Given the description of an element on the screen output the (x, y) to click on. 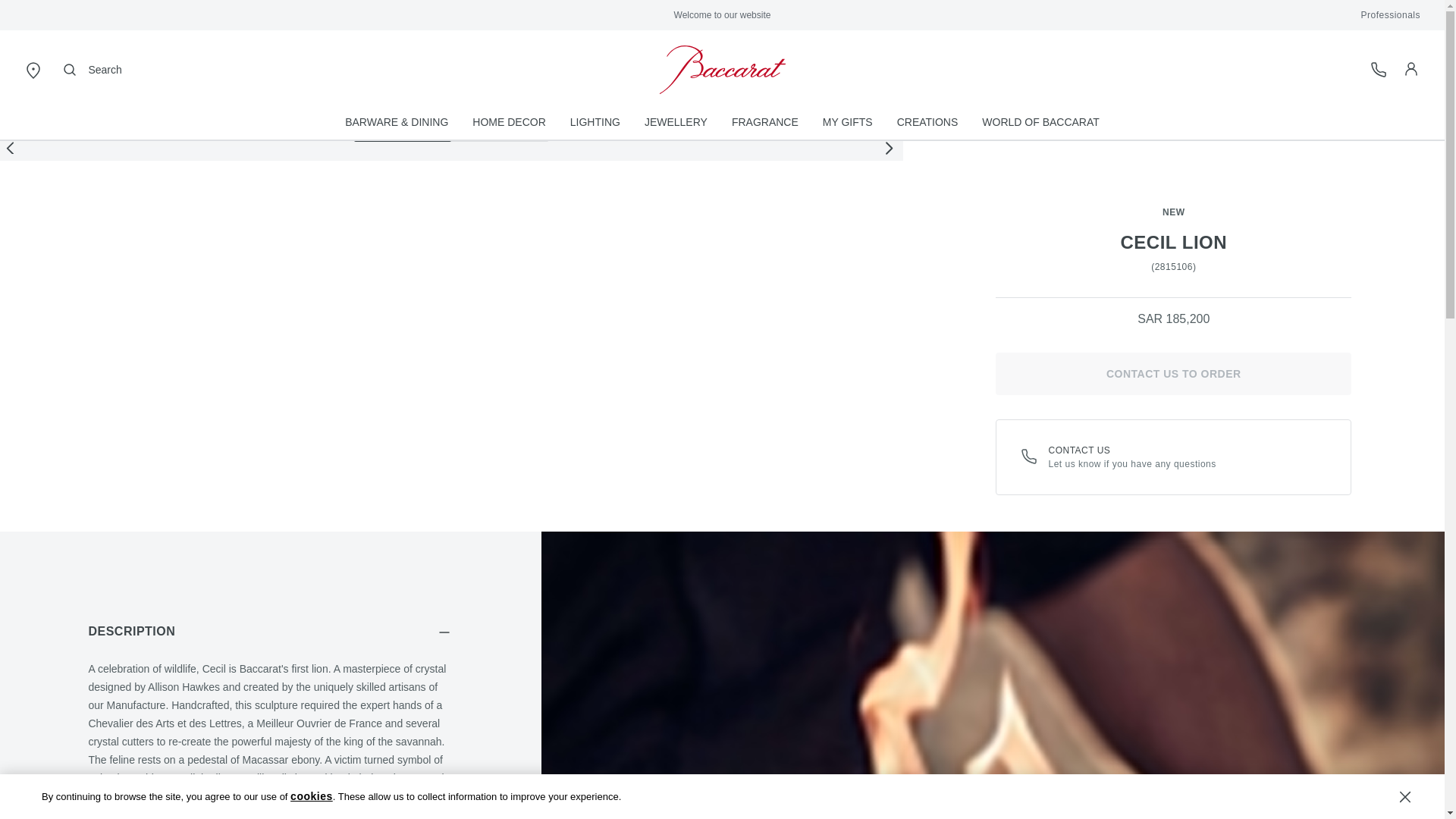
Professionals (1390, 15)
Search (91, 69)
Contact us (1029, 456)
